Given the description of an element on the screen output the (x, y) to click on. 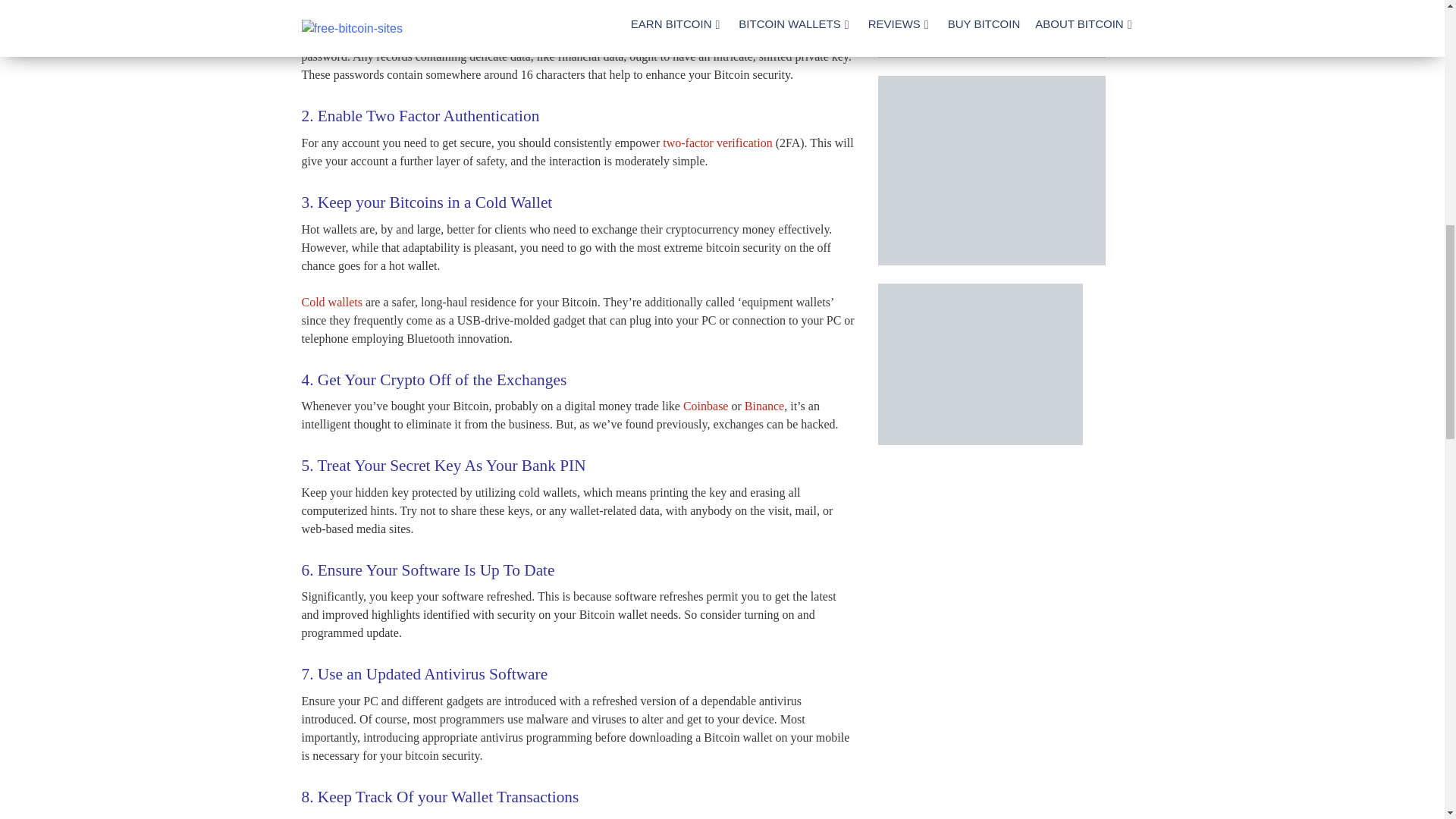
E-currency exchanger monitor BestChange.com (991, 28)
